Given the description of an element on the screen output the (x, y) to click on. 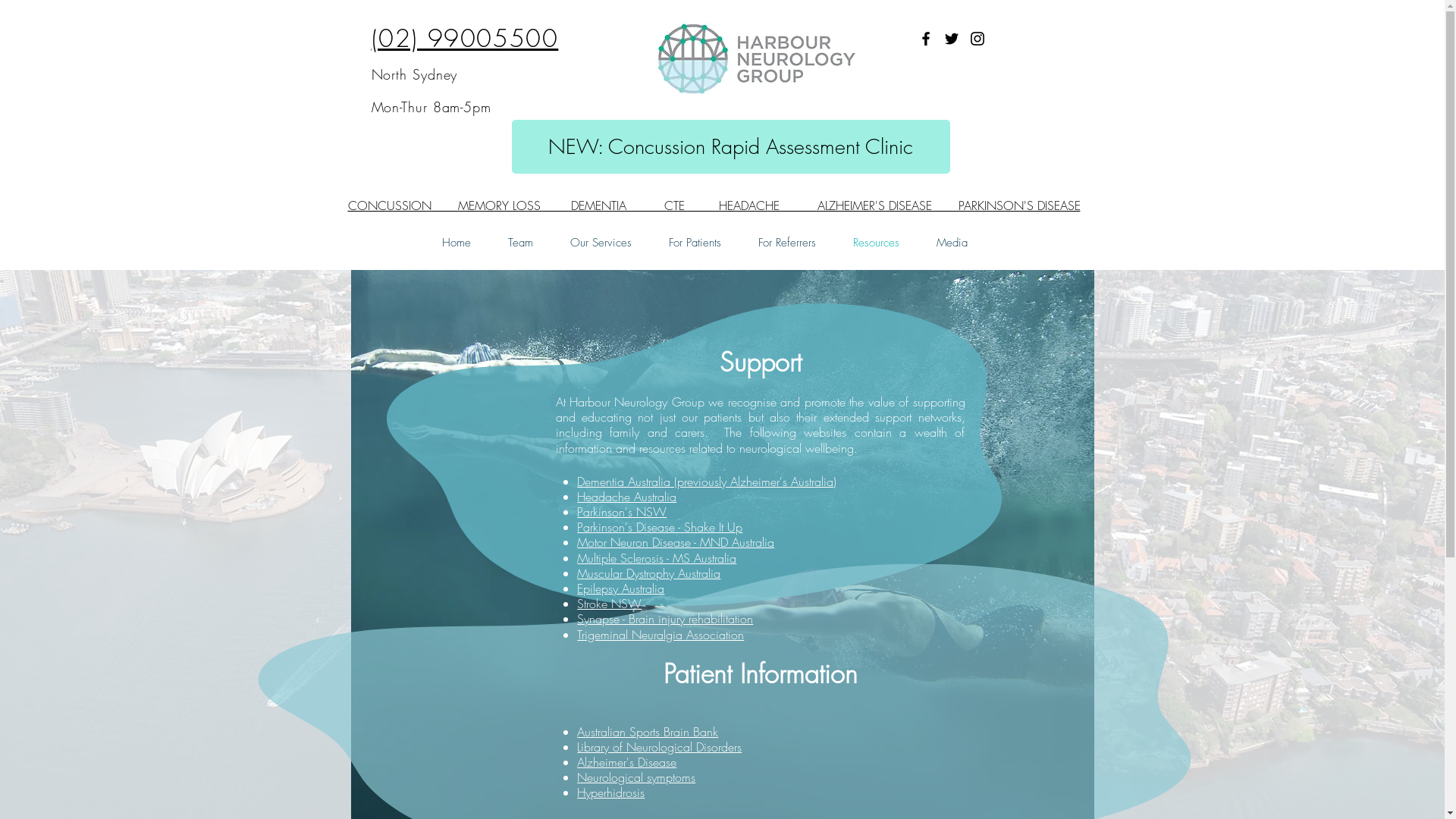
Stroke NSW Element type: text (609, 603)
Media Element type: text (951, 242)
Dementia Australia (previously Alzheimer's Australia) Element type: text (706, 481)
Neurological symptoms Element type: text (636, 776)
Synapse - Brain injury rehabilitation Element type: text (665, 618)
Home Element type: text (456, 242)
Parkinson's NSW Element type: text (621, 511)
Motor Neuron Disease - MND Australia Element type: text (675, 541)
Our Services Element type: text (601, 242)
Multiple Sclerosis - MS Australia Element type: text (656, 557)
(02) 99005500 Element type: text (464, 37)
For Patients Element type: text (695, 242)
Epilepsy Australia Element type: text (620, 588)
Alzheimer's Disease Element type: text (626, 761)
Library of Neurological Disorders Element type: text (659, 746)
Team Element type: text (520, 242)
Muscular Dystrophy Australia Element type: text (648, 572)
Trigeminal Neuralgia Association Element type: text (660, 634)
NEW: Concussion Rapid Assessment Clinic Element type: text (730, 146)
Resources Element type: text (875, 242)
For Referrers Element type: text (787, 242)
Australian Sports Brain Bank Element type: text (647, 731)
Parkinson's Disease - Shake It Up Element type: text (659, 526)
Hyperhidrosis Element type: text (610, 792)
Headache Australia Element type: text (626, 496)
